Given the description of an element on the screen output the (x, y) to click on. 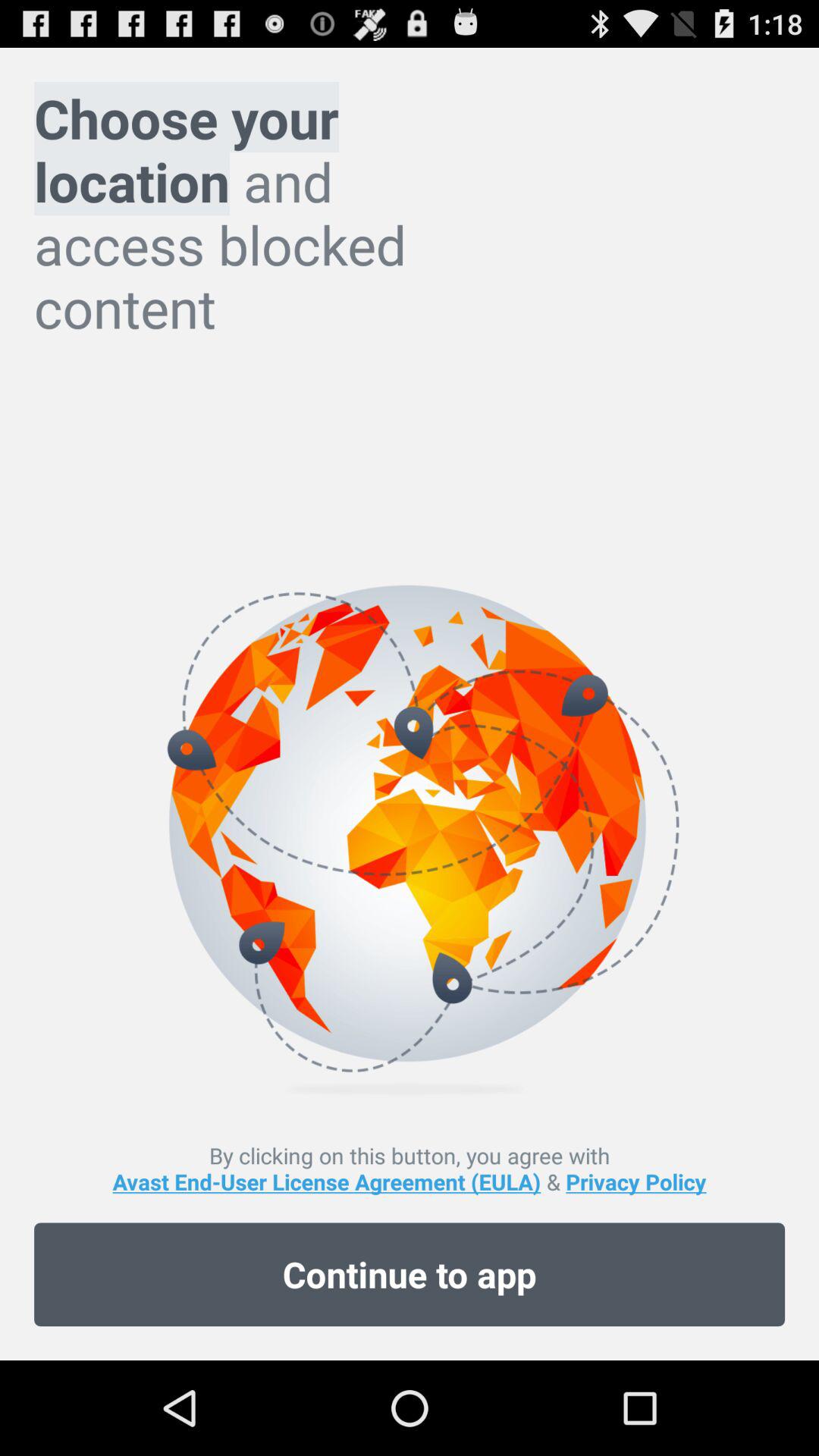
select by clicking on icon (409, 1168)
